Given the description of an element on the screen output the (x, y) to click on. 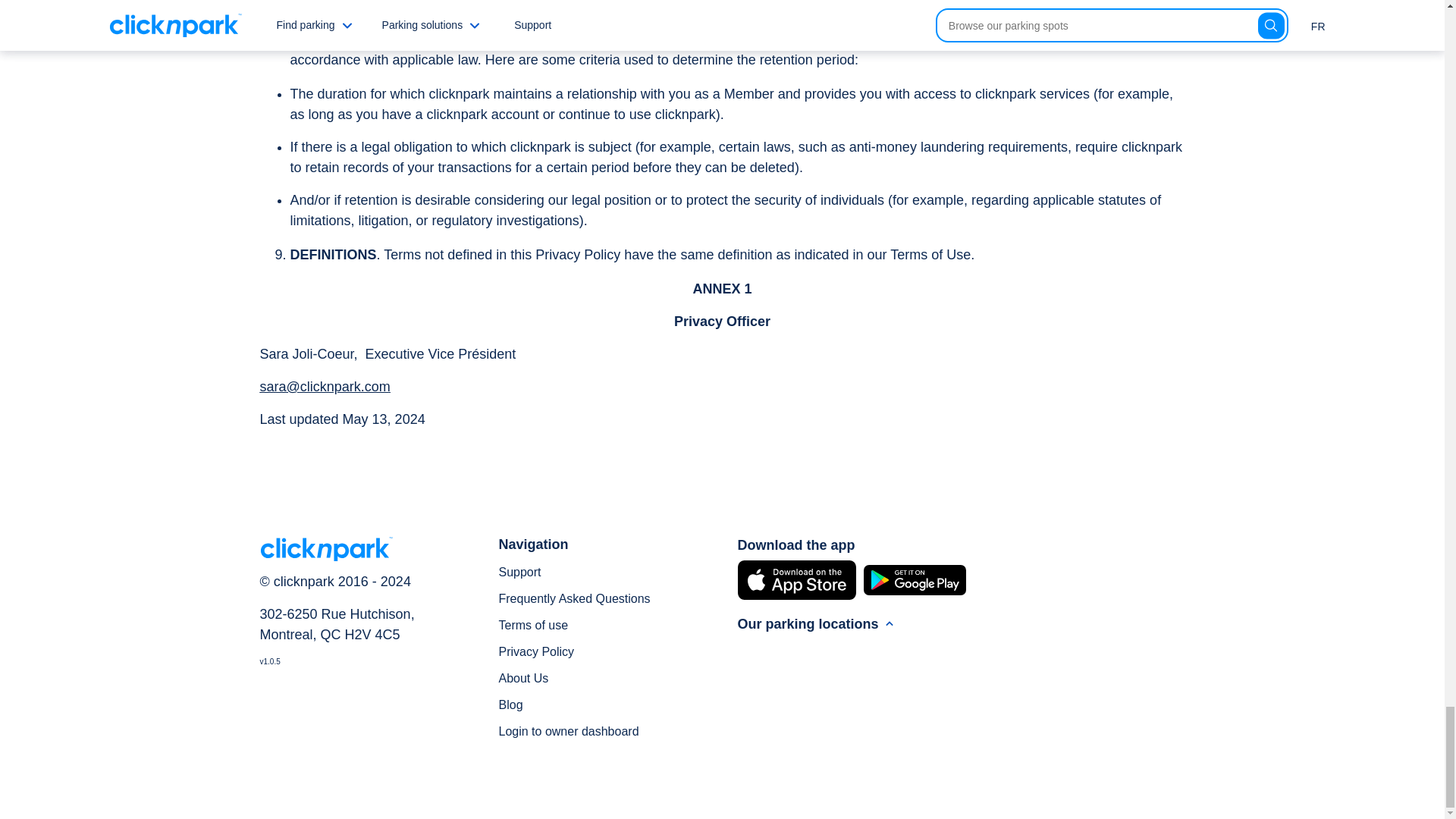
About Us (523, 677)
Frequently Asked Questions (574, 598)
Login to owner dashboard (569, 730)
Support (520, 571)
Terms of use (534, 625)
Blog (510, 704)
Privacy Policy (537, 651)
